Given the description of an element on the screen output the (x, y) to click on. 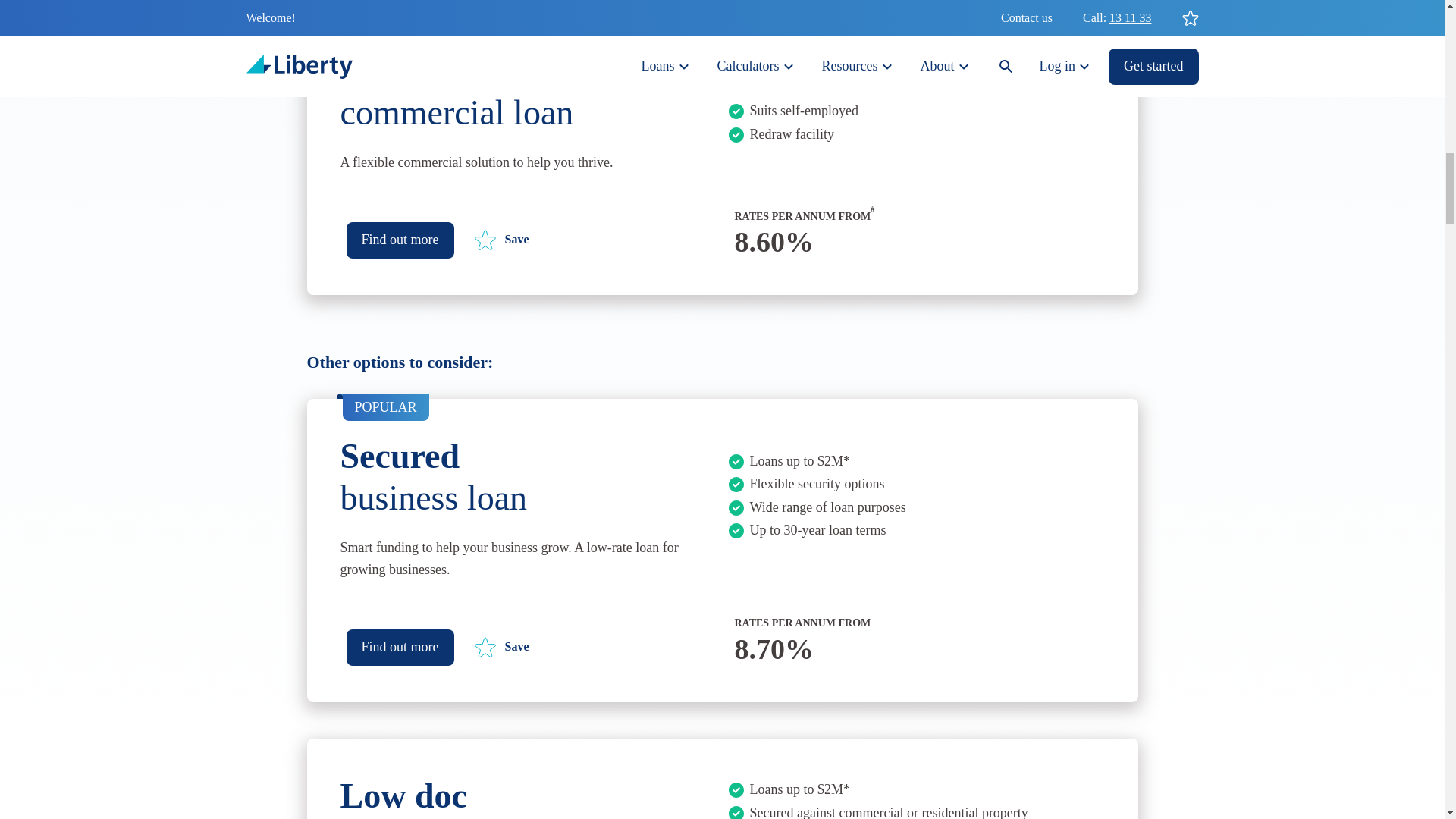
Save (500, 647)
Find out more (399, 239)
Save (500, 240)
Find out more (399, 647)
